Given the description of an element on the screen output the (x, y) to click on. 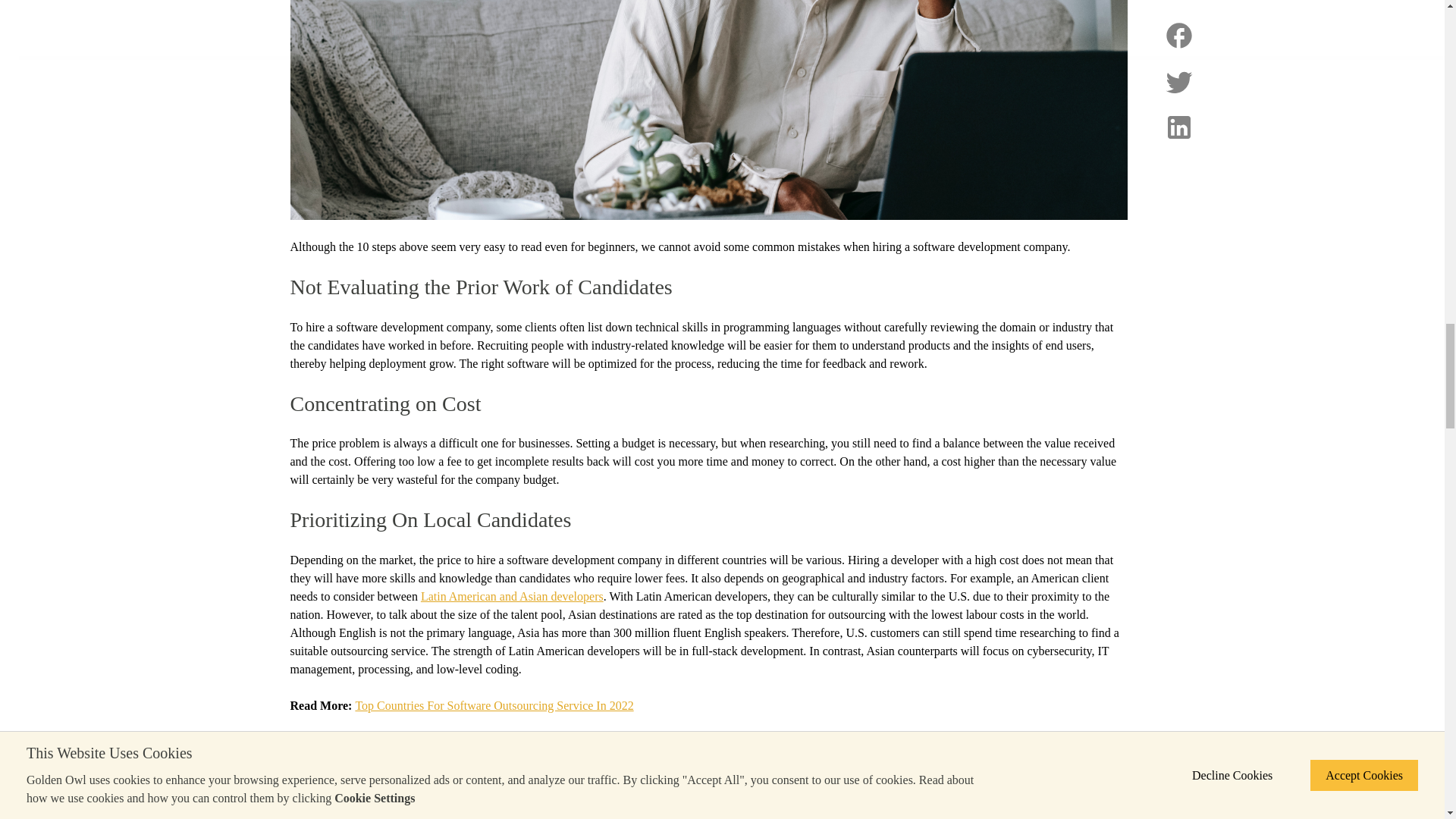
Latin American and Asian developers (512, 595)
Top Countries For Software Outsourcing Service In 2022 (494, 705)
